Given the description of an element on the screen output the (x, y) to click on. 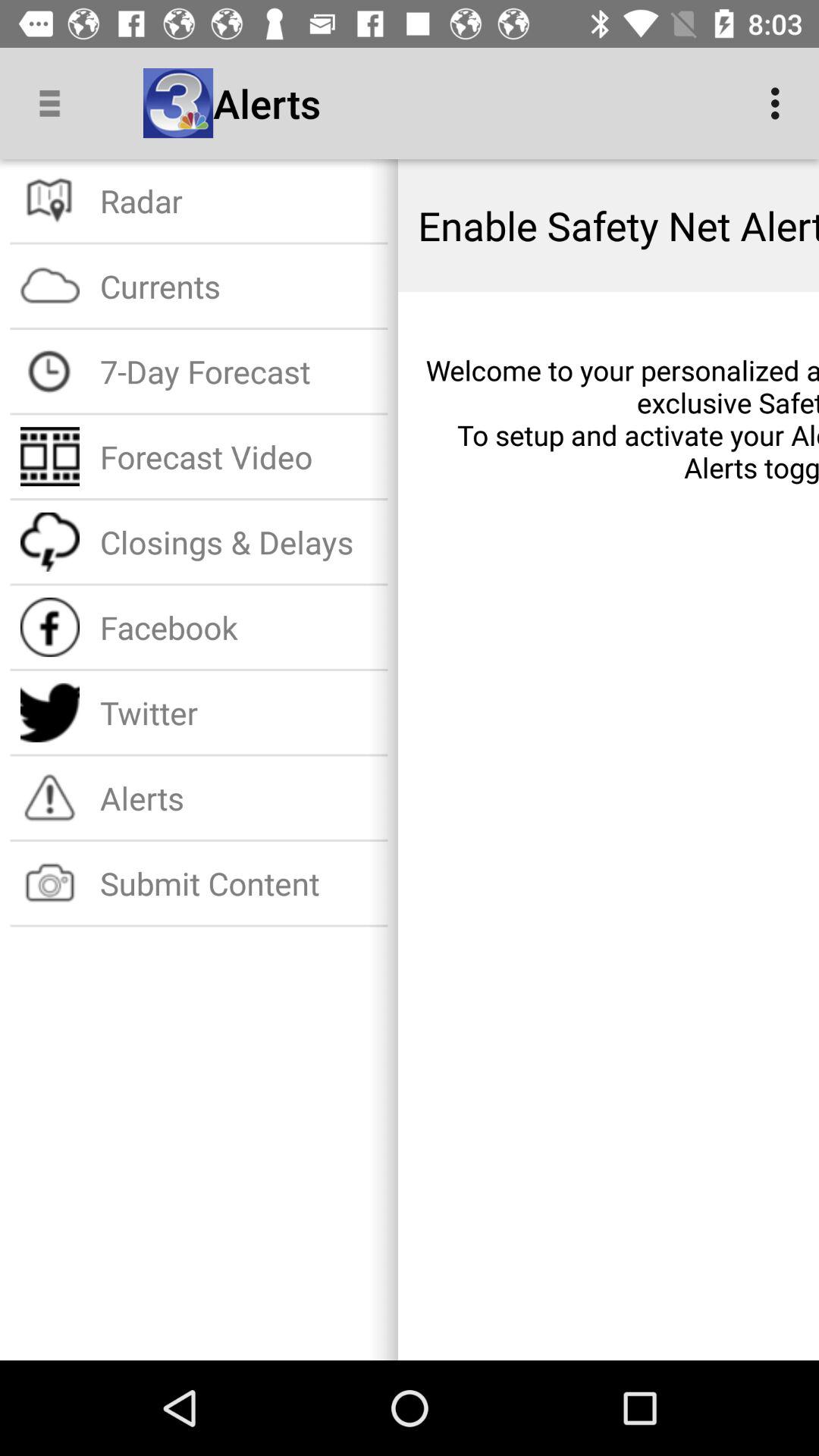
click the icon above the forecast video item (238, 370)
